Given the description of an element on the screen output the (x, y) to click on. 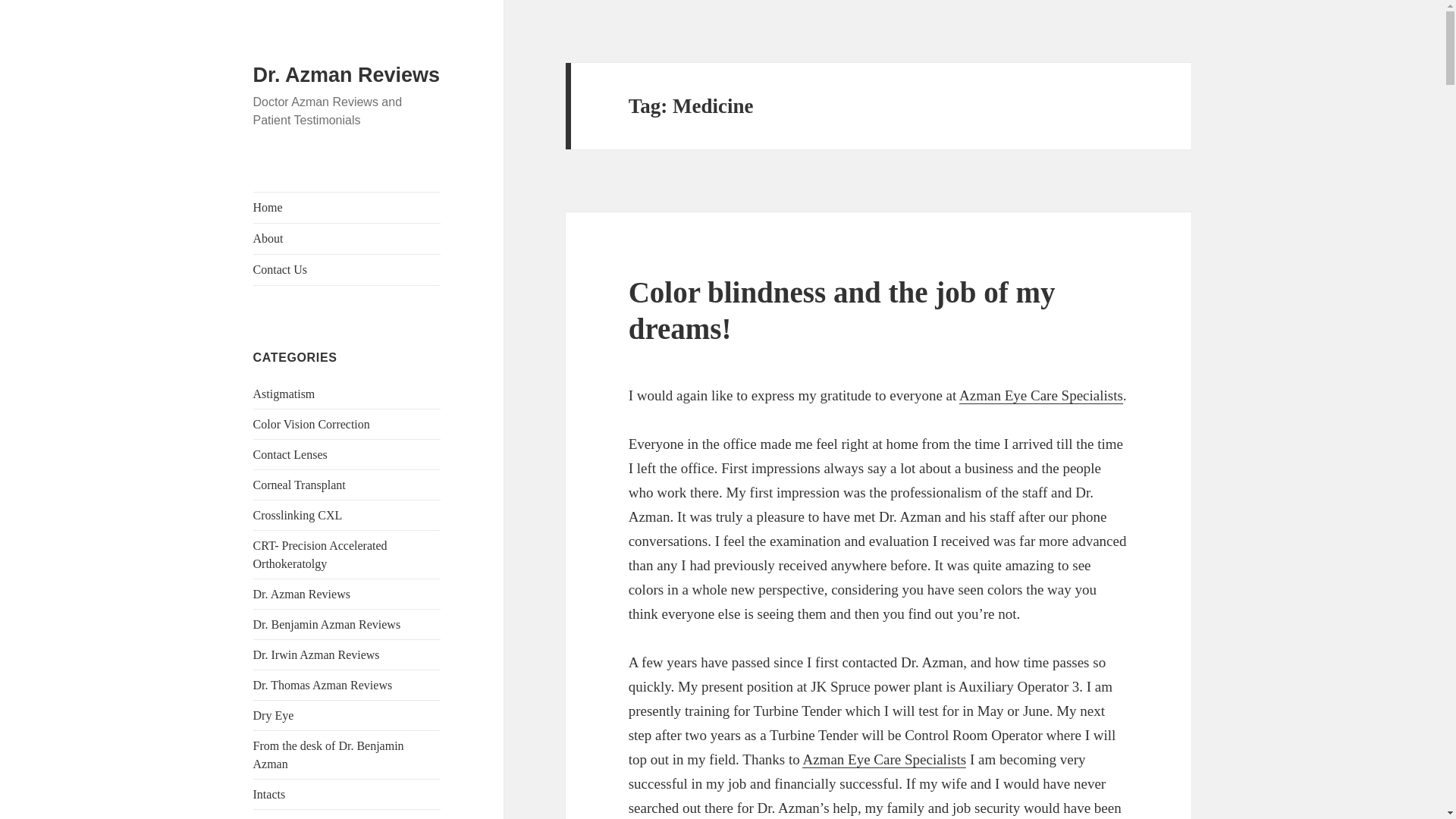
Dr. Azman Reviews (347, 74)
Color blindness and the job of my dreams! (841, 310)
From the desk of Dr. Benjamin Azman (328, 754)
CRT- Precision Accelerated Orthokeratolgy (320, 554)
Astigmatism (284, 393)
Contact Lenses (290, 454)
About (347, 238)
Color Vision Correction (311, 423)
Contact Us (347, 269)
Home (347, 207)
Dr. Azman Reviews (301, 594)
Dry Eye (273, 715)
ColorMax.org Color Vision Specialists (884, 759)
Crosslinking CXL (297, 514)
Dr. Benjamin Azman Reviews (327, 624)
